Given the description of an element on the screen output the (x, y) to click on. 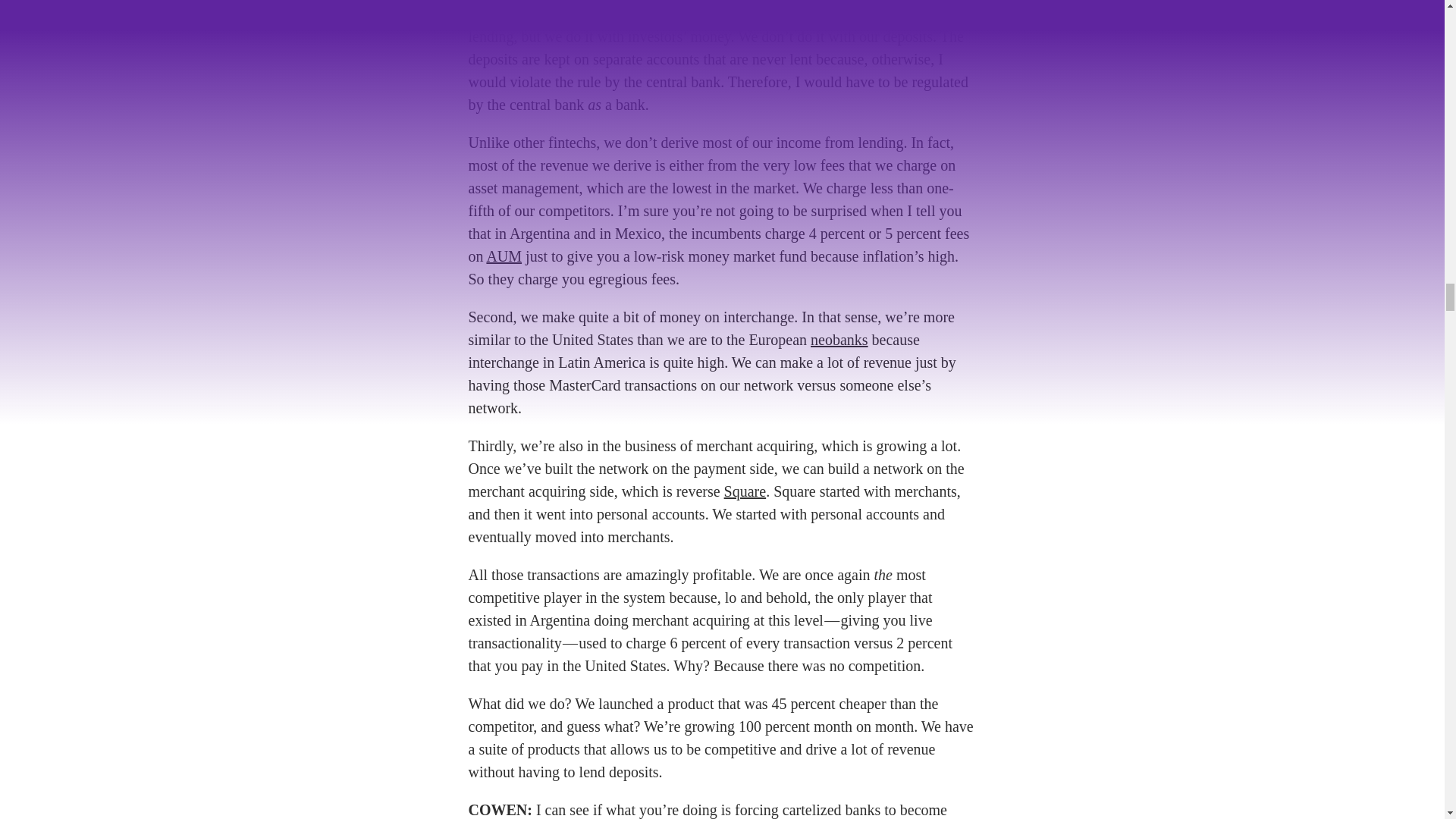
AUM (503, 256)
Square (745, 491)
neobanks (838, 339)
